Given the description of an element on the screen output the (x, y) to click on. 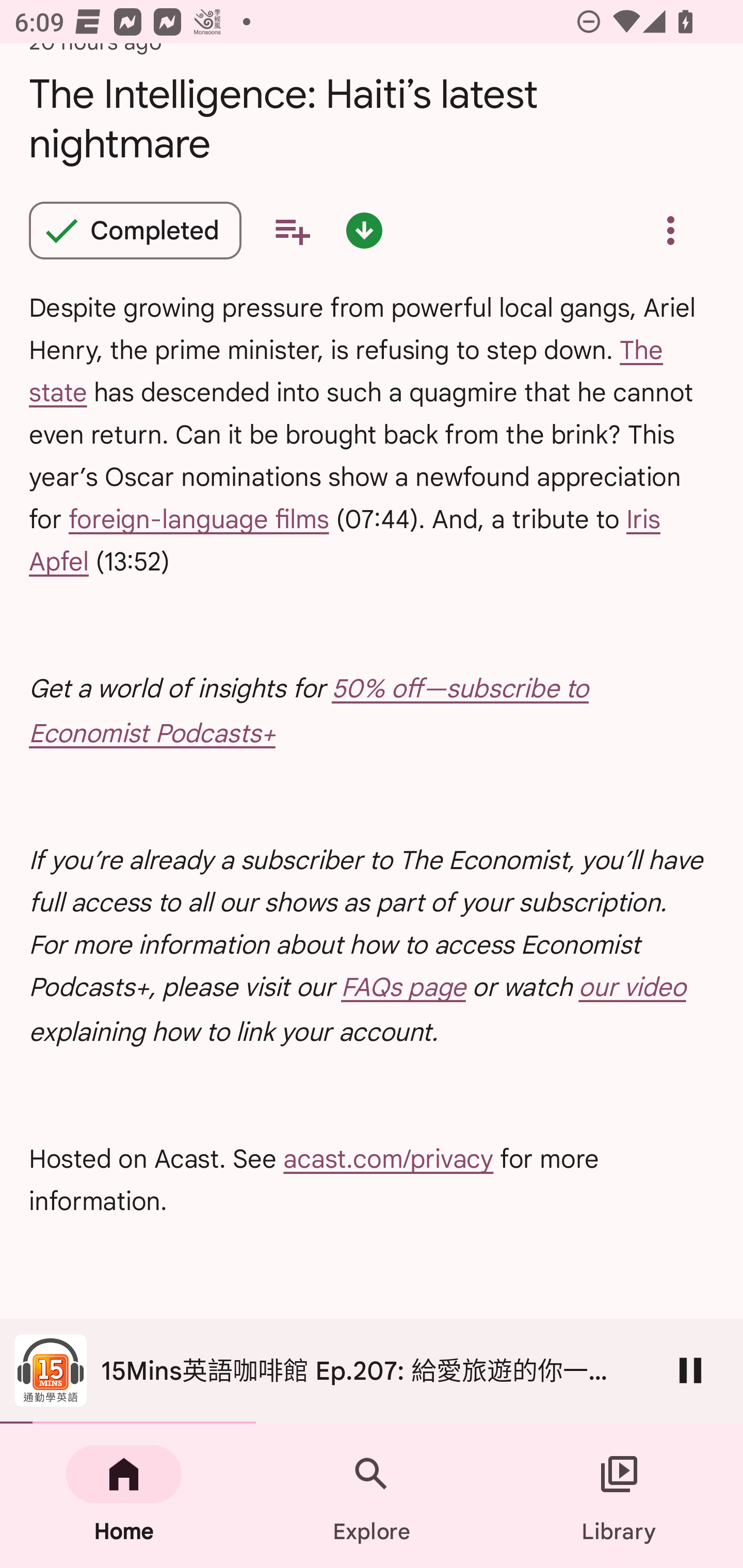
Add to your queue (291, 230)
Episode downloaded - double tap for options (364, 230)
Overflow menu (670, 230)
Pause (690, 1370)
Explore (371, 1495)
Library (619, 1495)
